Given the description of an element on the screen output the (x, y) to click on. 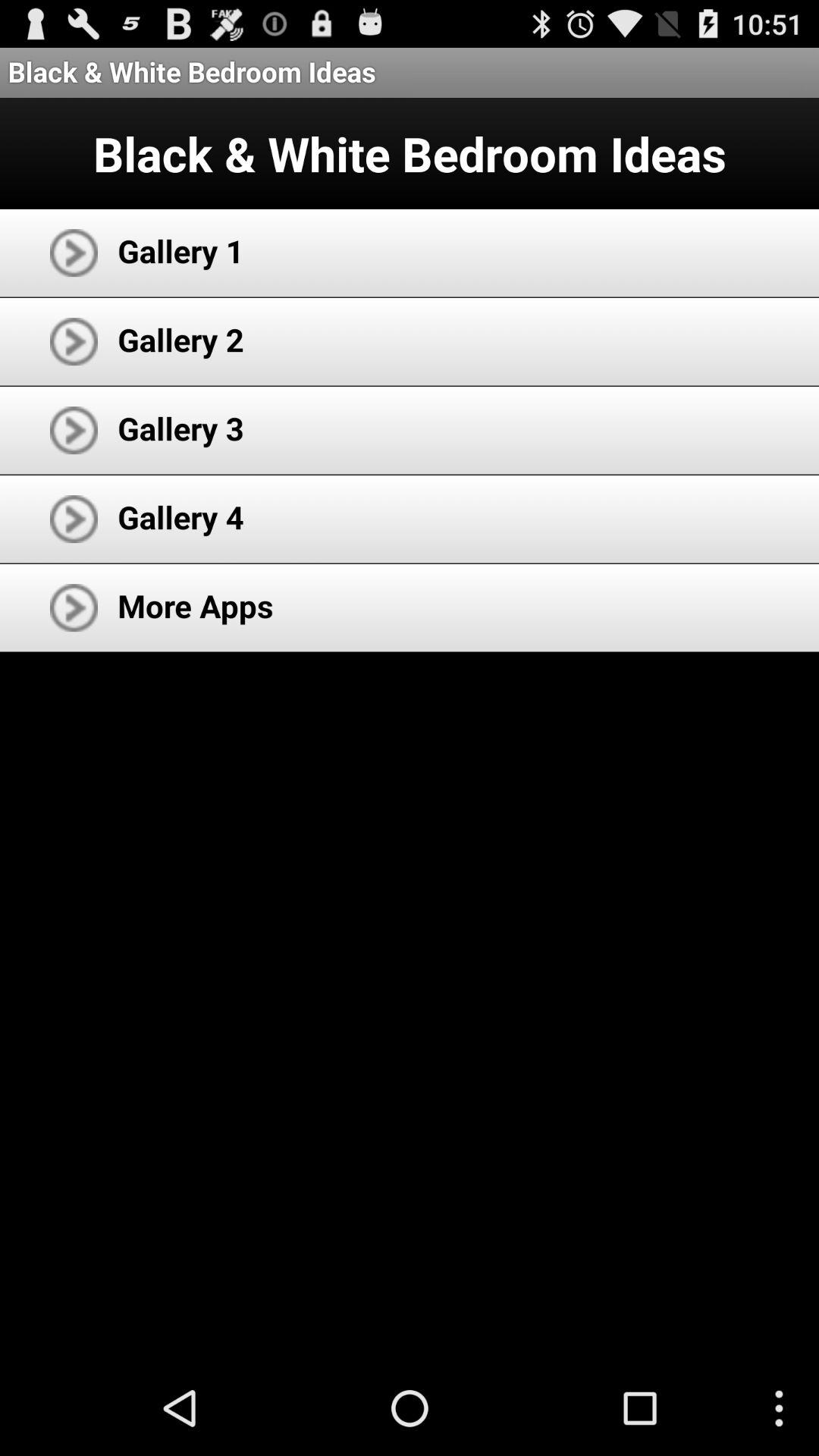
turn off item below the gallery 4 icon (195, 605)
